Given the description of an element on the screen output the (x, y) to click on. 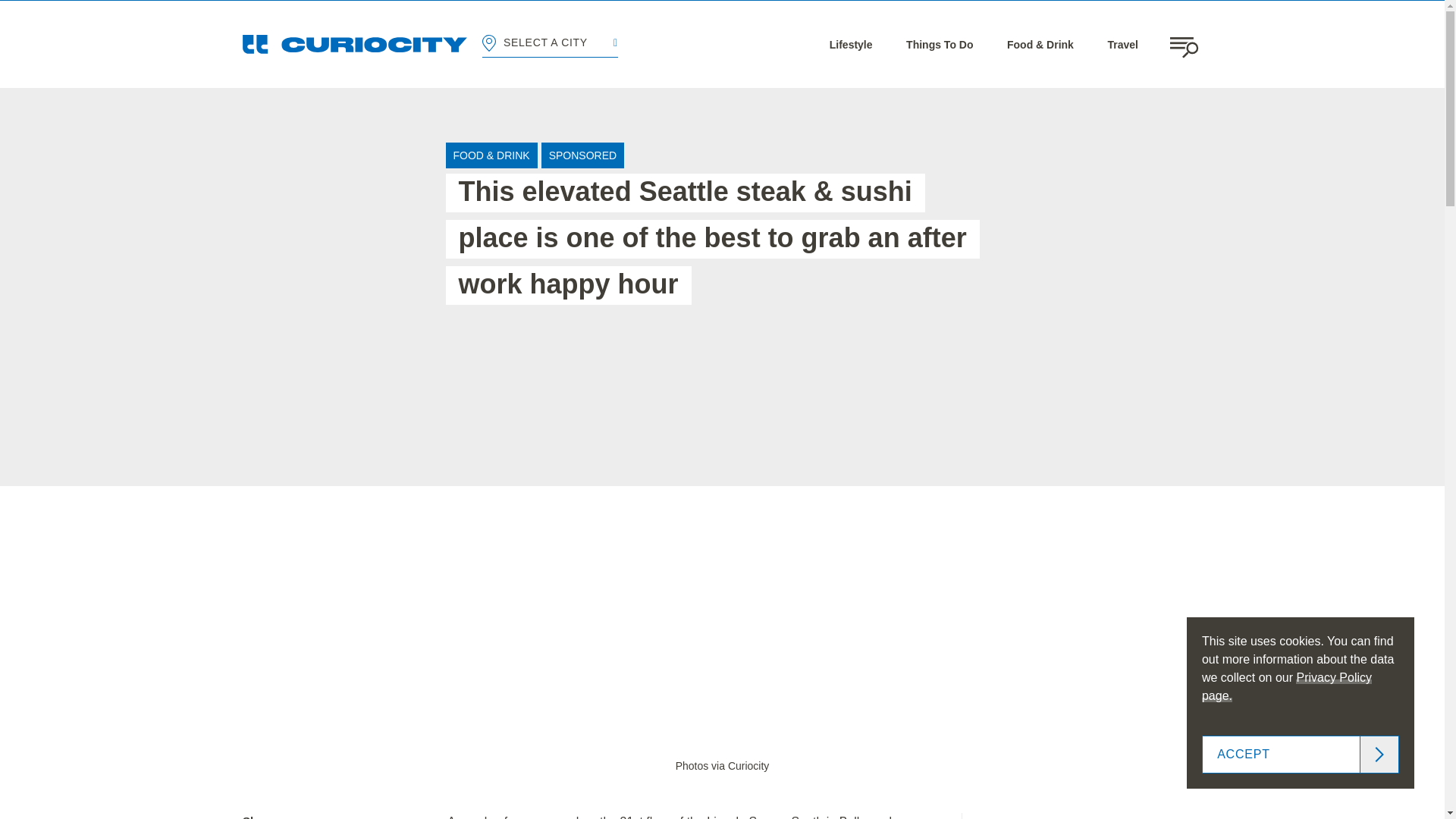
Lifestyle (850, 44)
goes to Home (355, 43)
Privacy Policy page. (1286, 685)
Travel (1121, 44)
Things To Do (938, 44)
SELECT A CITY (549, 44)
ACCEPT (1300, 754)
